Given the description of an element on the screen output the (x, y) to click on. 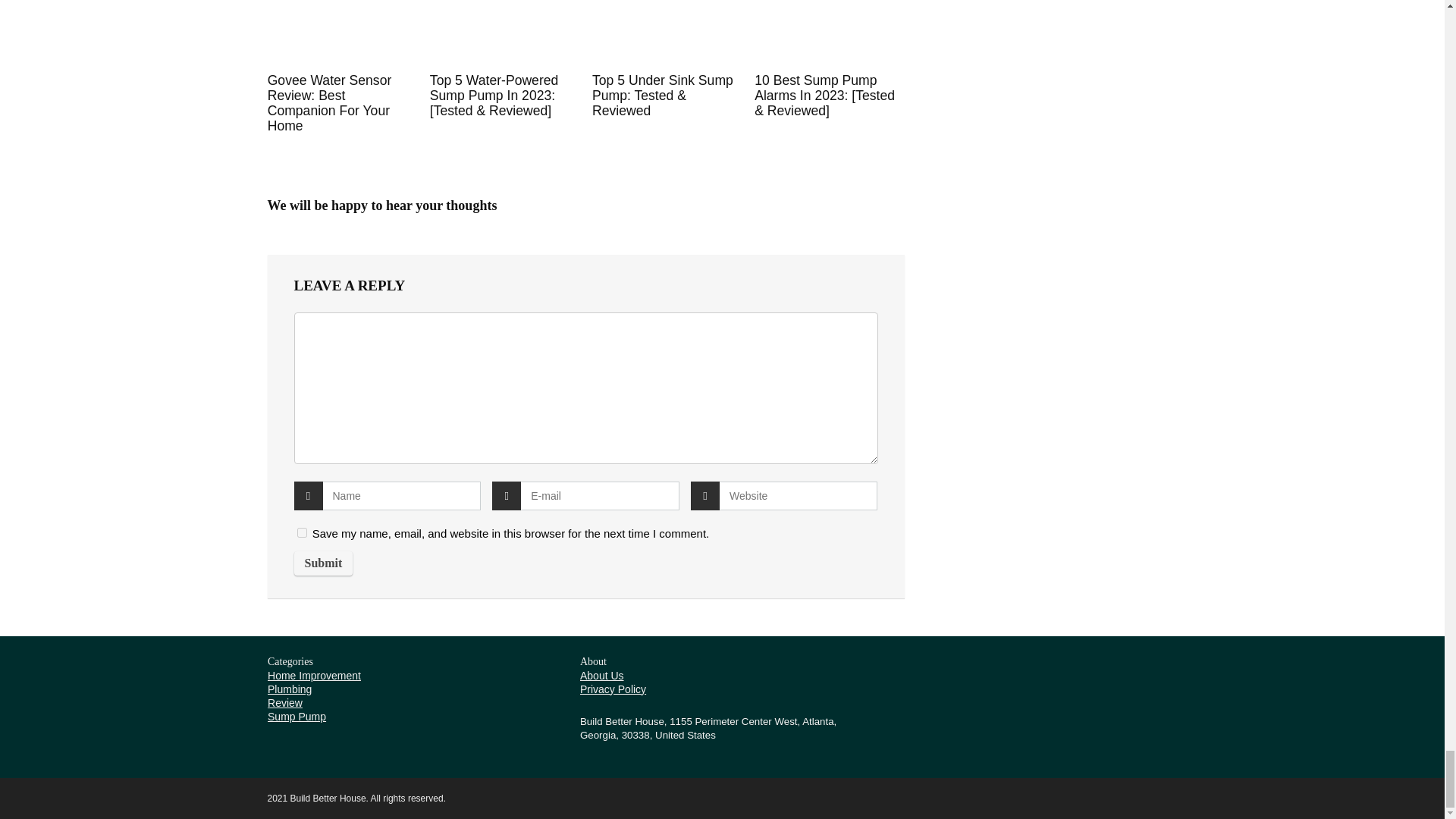
Submit (323, 563)
Govee Water Sensor Review: Best Companion For Your Home (329, 102)
yes (302, 532)
Submit (323, 563)
